Given the description of an element on the screen output the (x, y) to click on. 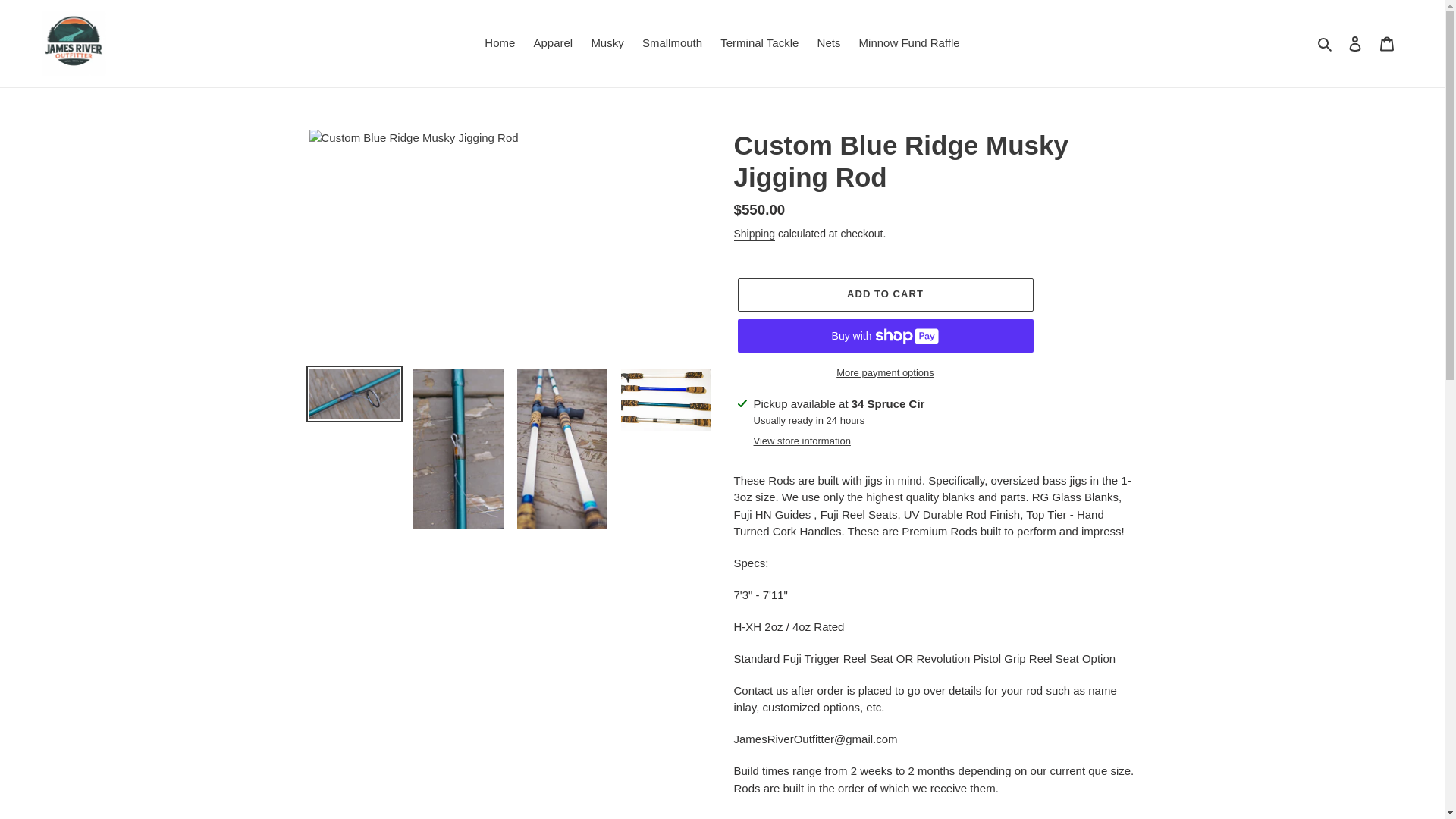
Apparel (552, 43)
Smallmouth (672, 43)
Terminal Tackle (759, 43)
Musky (606, 43)
Search (1326, 43)
More payment options (884, 372)
Cart (1387, 43)
Nets (828, 43)
Shipping (754, 233)
Minnow Fund Raffle (909, 43)
Log in (1355, 43)
View store information (802, 441)
Home (499, 43)
ADD TO CART (884, 295)
